Given the description of an element on the screen output the (x, y) to click on. 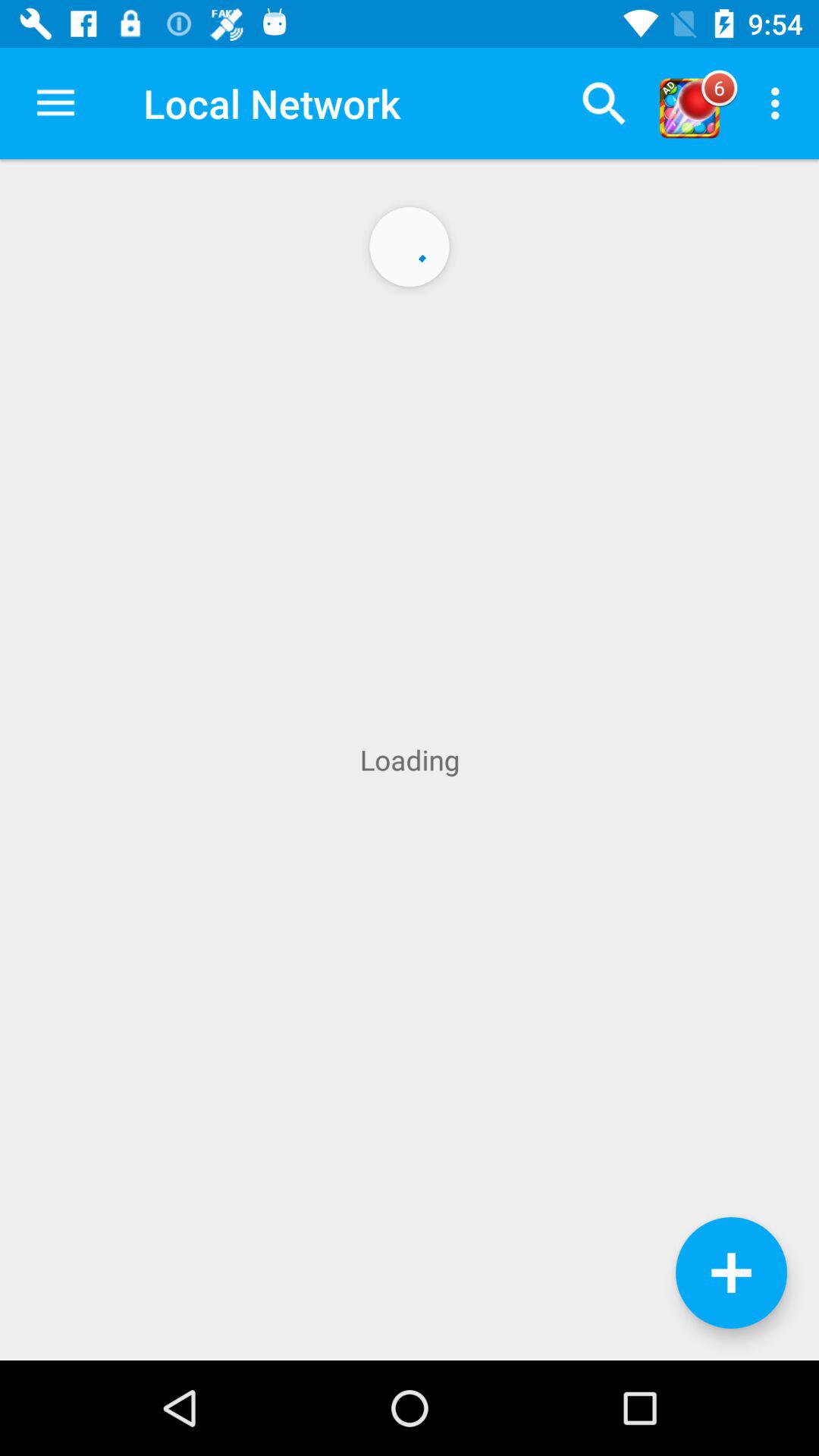
choose the item to the right of the 6 icon (779, 103)
